Given the description of an element on the screen output the (x, y) to click on. 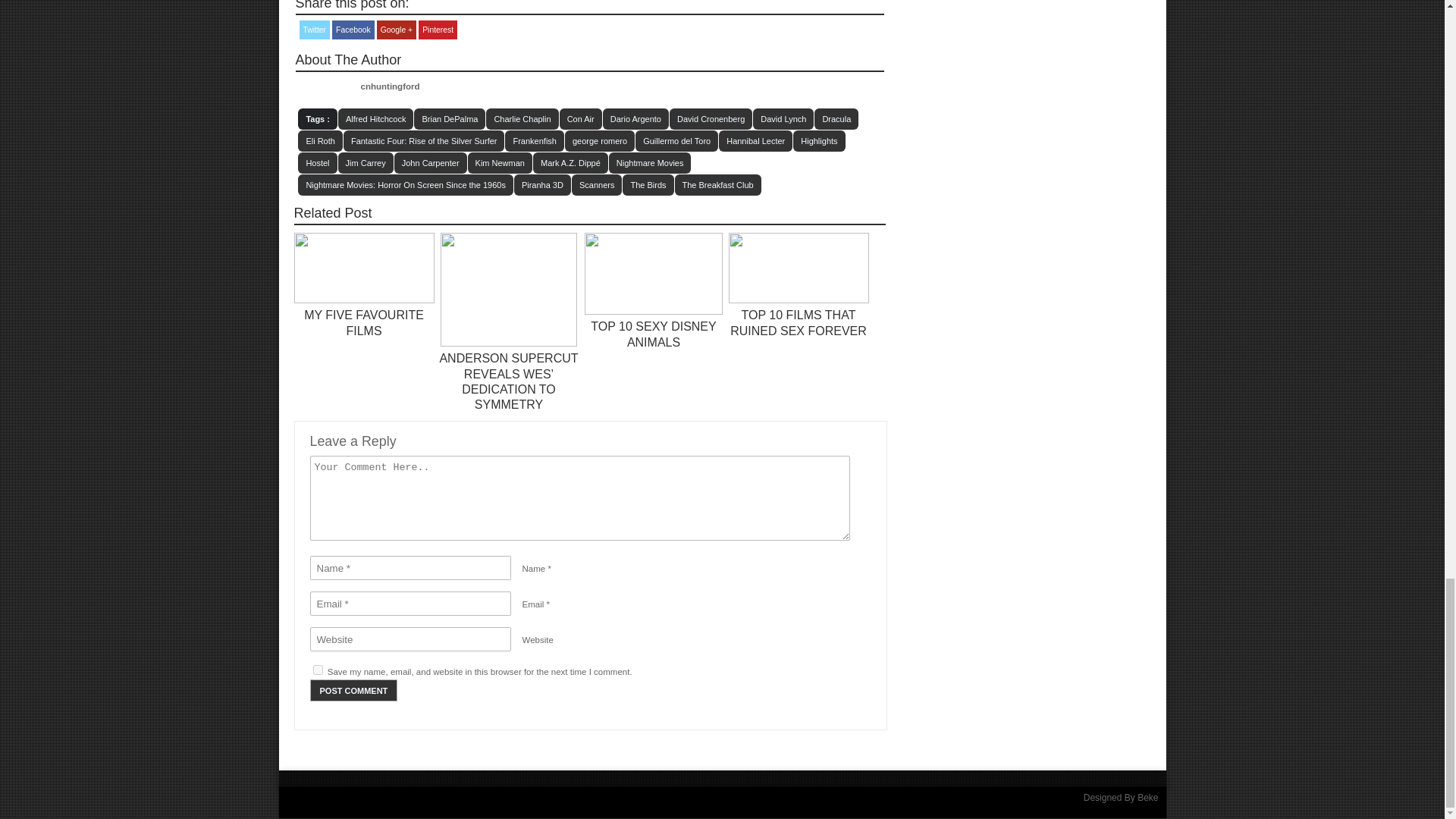
My five favourite films (363, 322)
Share on Pinterest! (438, 29)
David Cronenberg (710, 118)
Post Comment (352, 690)
Charlie Chaplin (521, 118)
Dario Argento (635, 118)
Tweet this! (314, 29)
Brian DePalma (448, 118)
cnhuntingford (390, 85)
Alfred Hitchcock (375, 118)
